Given the description of an element on the screen output the (x, y) to click on. 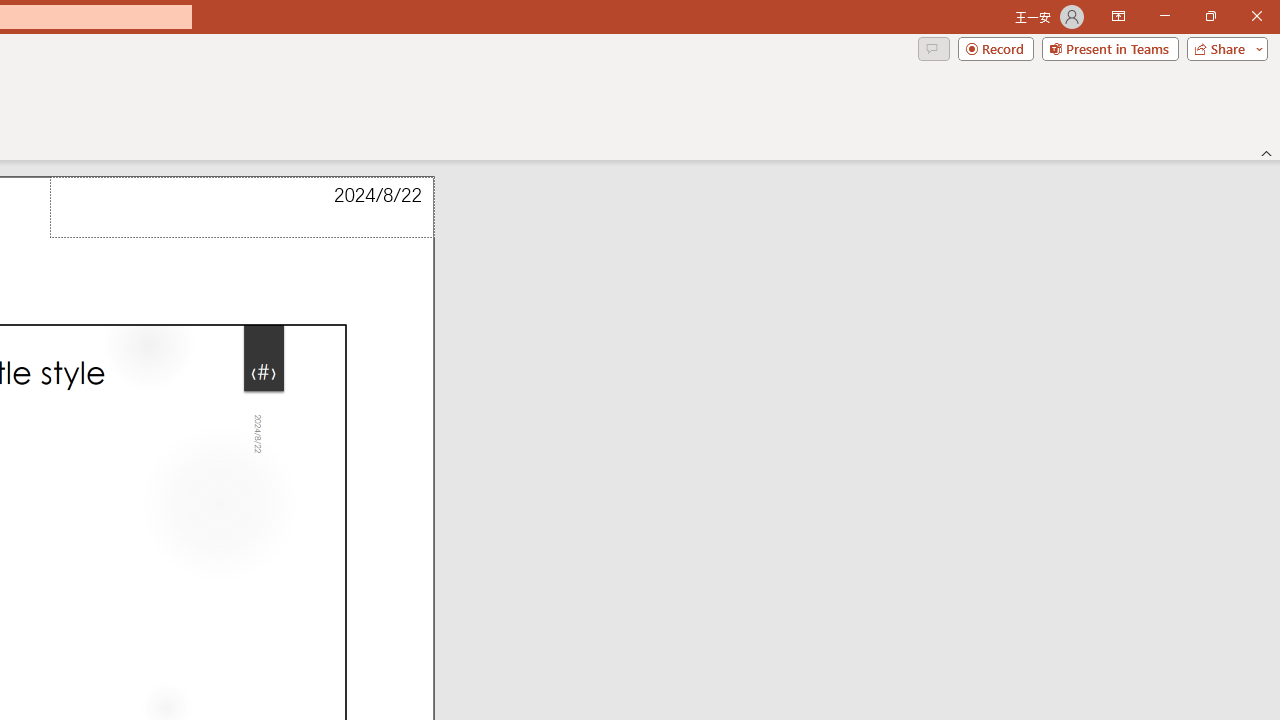
Date (242, 207)
